Given the description of an element on the screen output the (x, y) to click on. 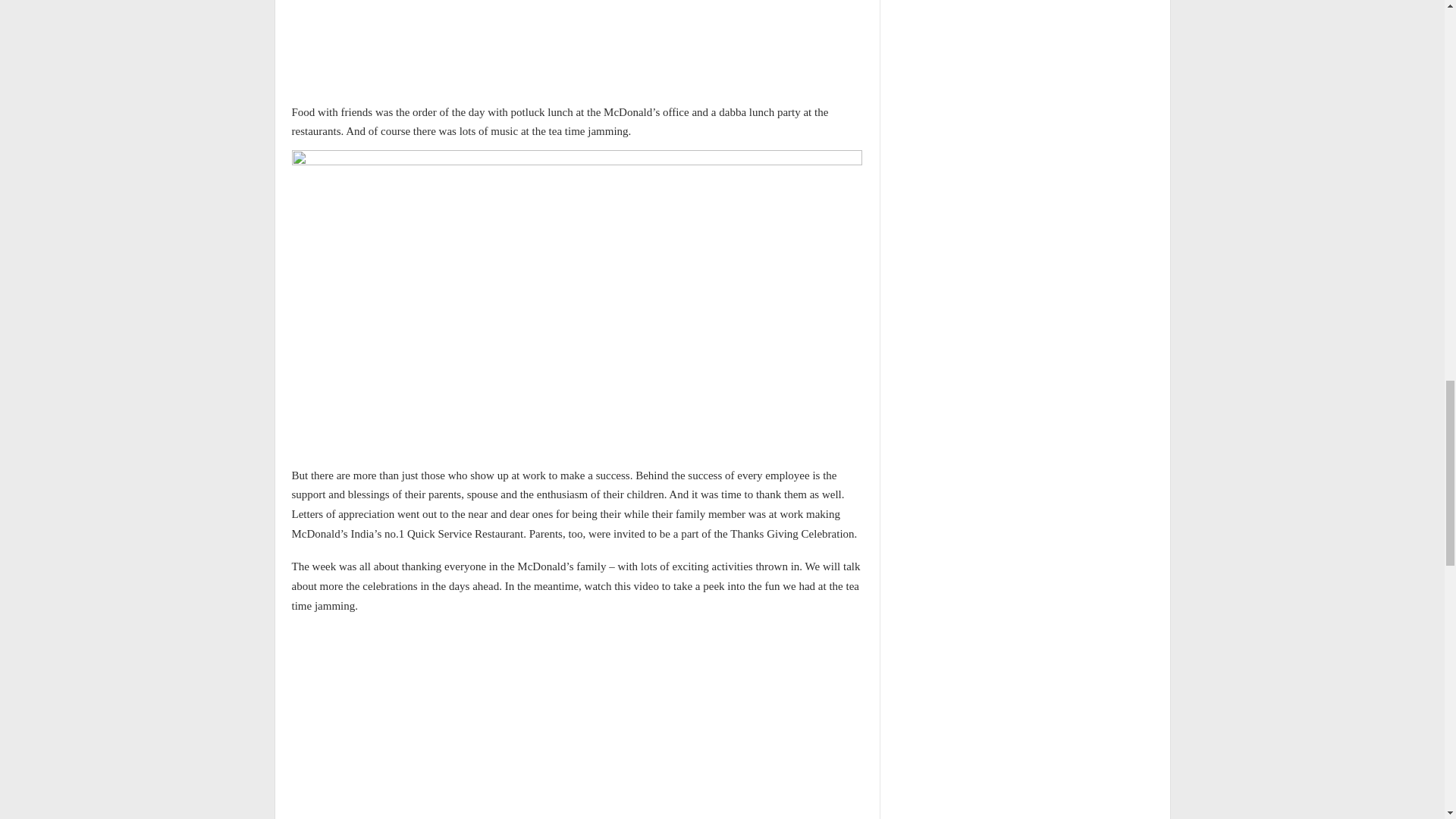
McDonald's Thanksgiving Week (571, 724)
